Given the description of an element on the screen output the (x, y) to click on. 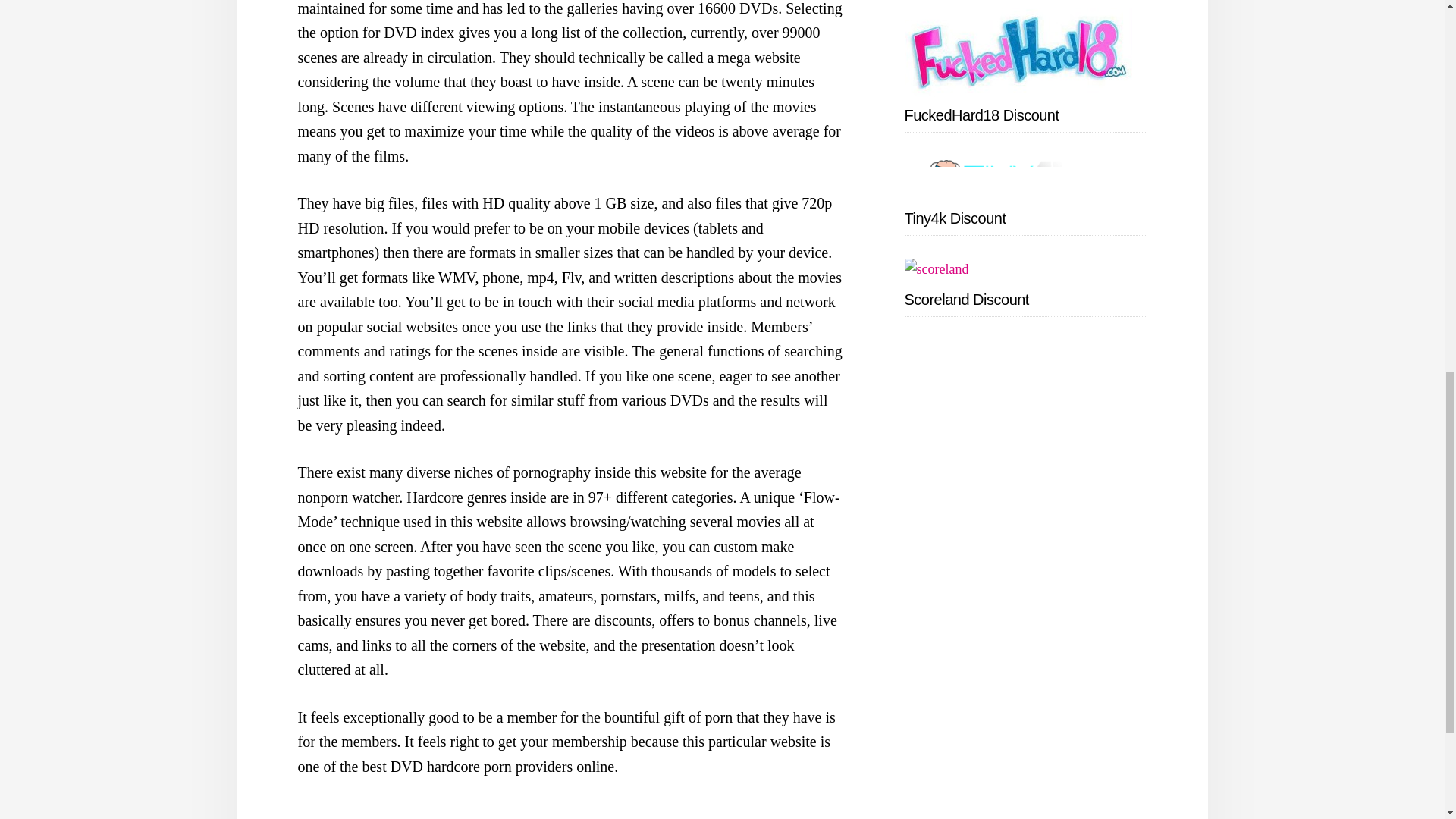
Tiny4k Discount (955, 217)
FuckedHard18 Discount (981, 115)
Scoreland Discount (965, 299)
